Given the description of an element on the screen output the (x, y) to click on. 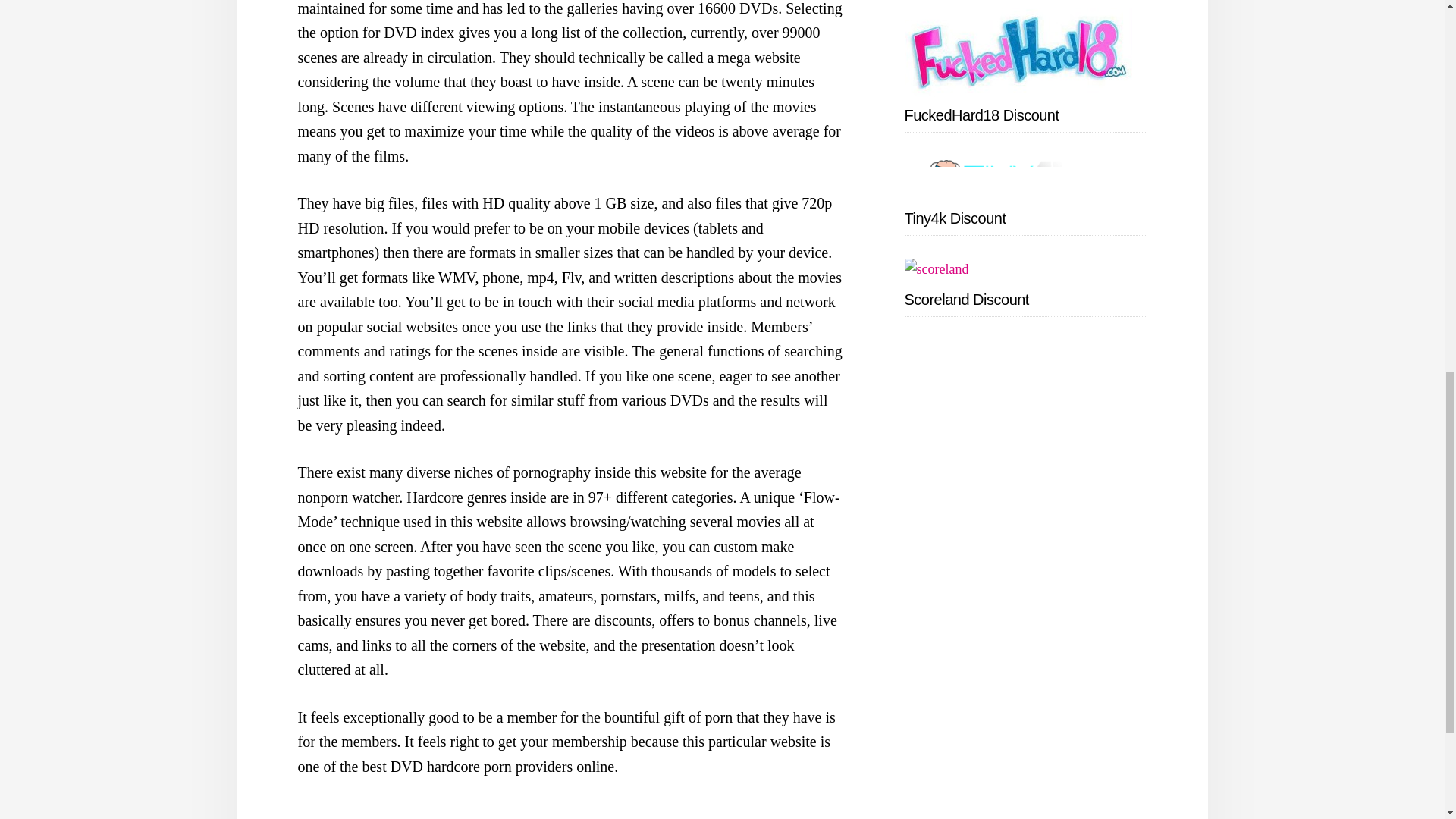
Tiny4k Discount (955, 217)
FuckedHard18 Discount (981, 115)
Scoreland Discount (965, 299)
